Given the description of an element on the screen output the (x, y) to click on. 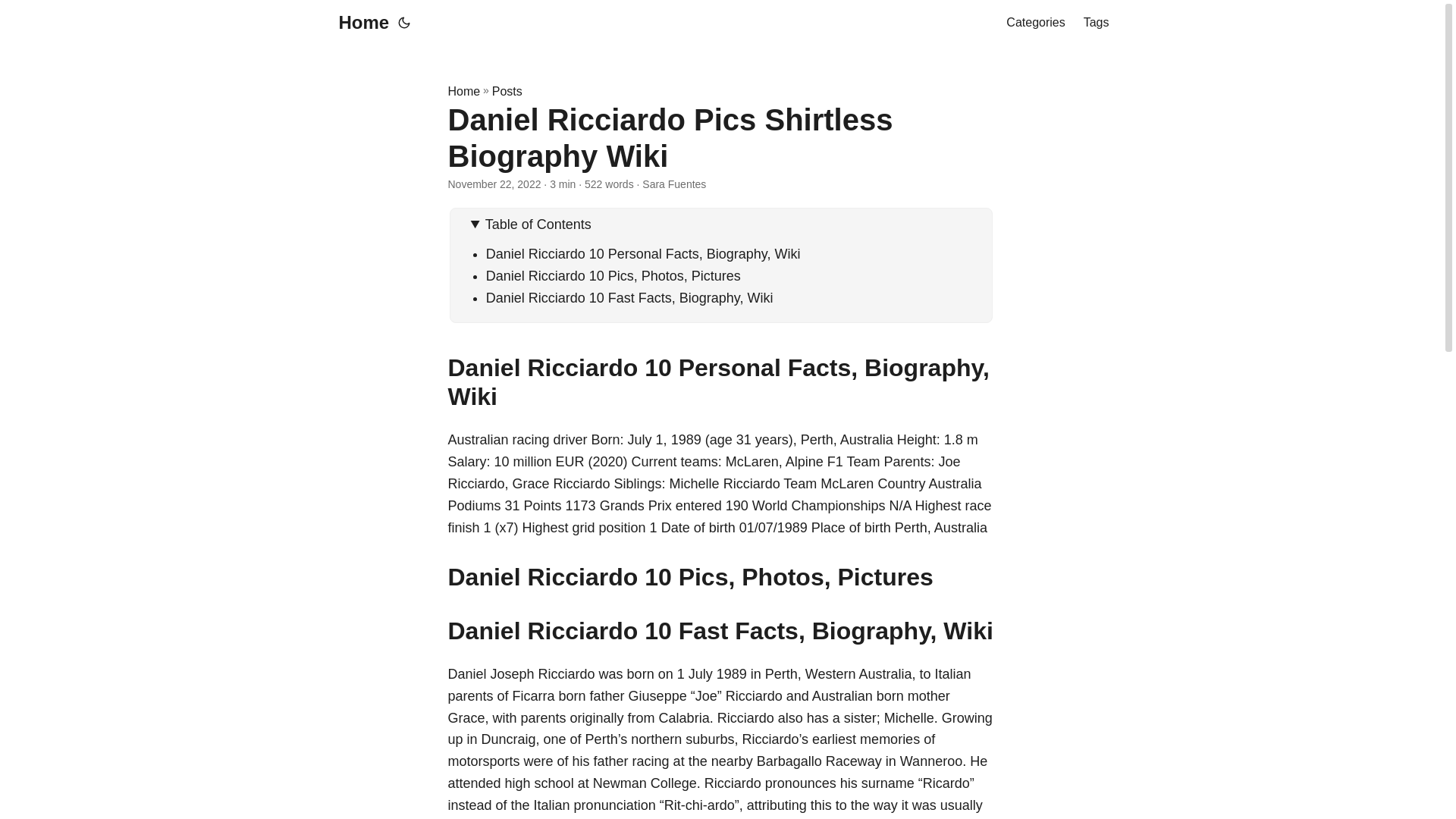
Daniel Ricciardo 10 Personal Facts, Biography, Wiki (643, 253)
Posts (507, 91)
Daniel Ricciardo 10 Fast Facts, Biography, Wiki (629, 297)
Categories (1035, 22)
Home (359, 22)
Home (463, 91)
Categories (1035, 22)
Daniel Ricciardo 10 Pics, Photos, Pictures (613, 275)
